Given the description of an element on the screen output the (x, y) to click on. 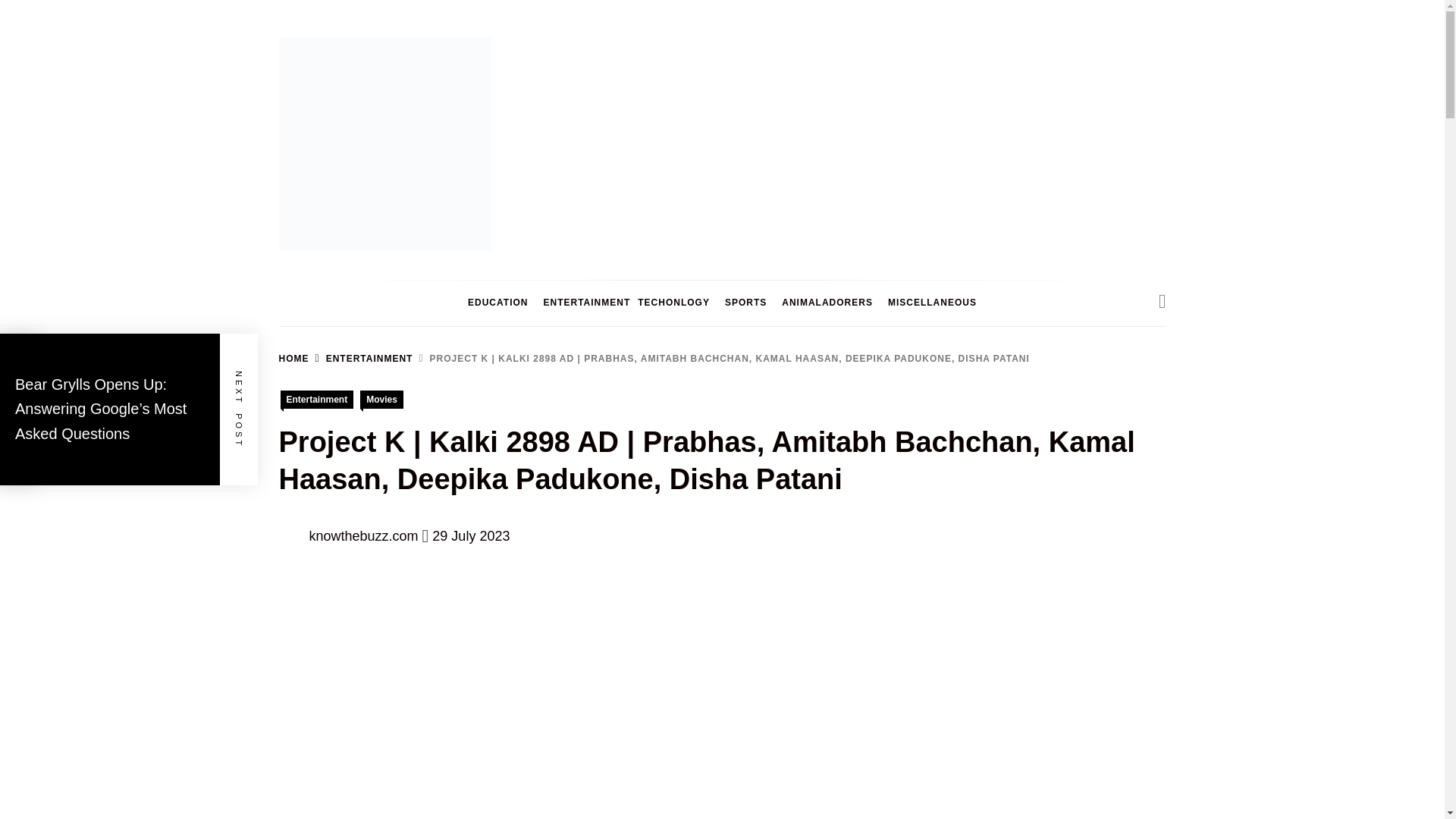
SPORTS (745, 302)
knowthebuzz.com (363, 535)
KnowTheBuzz (366, 271)
ENTERTAINMENT (582, 302)
EDUCATION (497, 302)
29 July 2023 (470, 535)
ENTERTAINMENT (360, 357)
Entertainment (317, 399)
HOME (293, 357)
TECHONLOGY (673, 302)
